Given the description of an element on the screen output the (x, y) to click on. 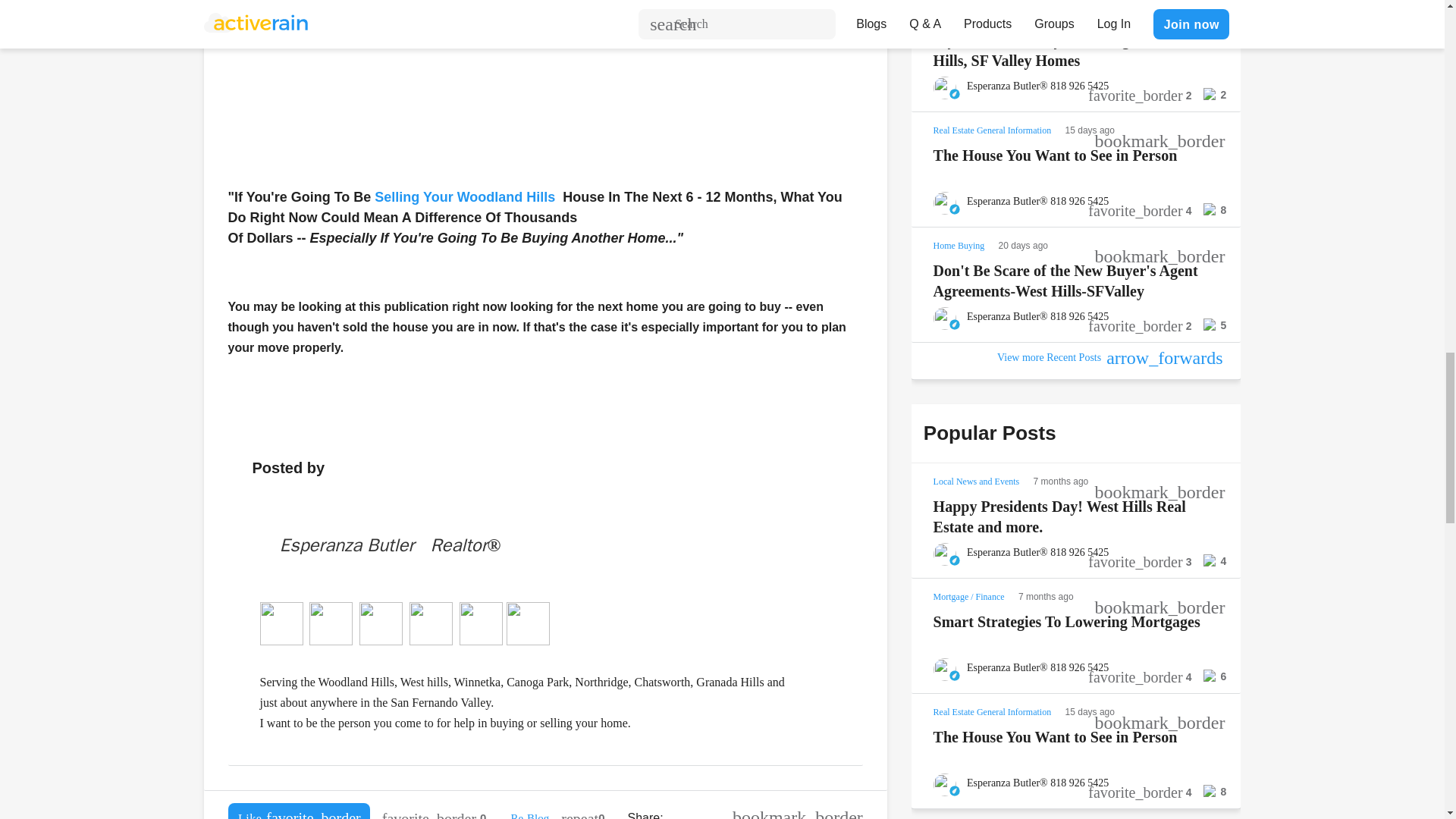
Re-Blog (529, 815)
This entry hasn't been re-blogged (582, 811)
Selling Your Woodland Hills (464, 196)
repeat 0 (582, 811)
